Given the description of an element on the screen output the (x, y) to click on. 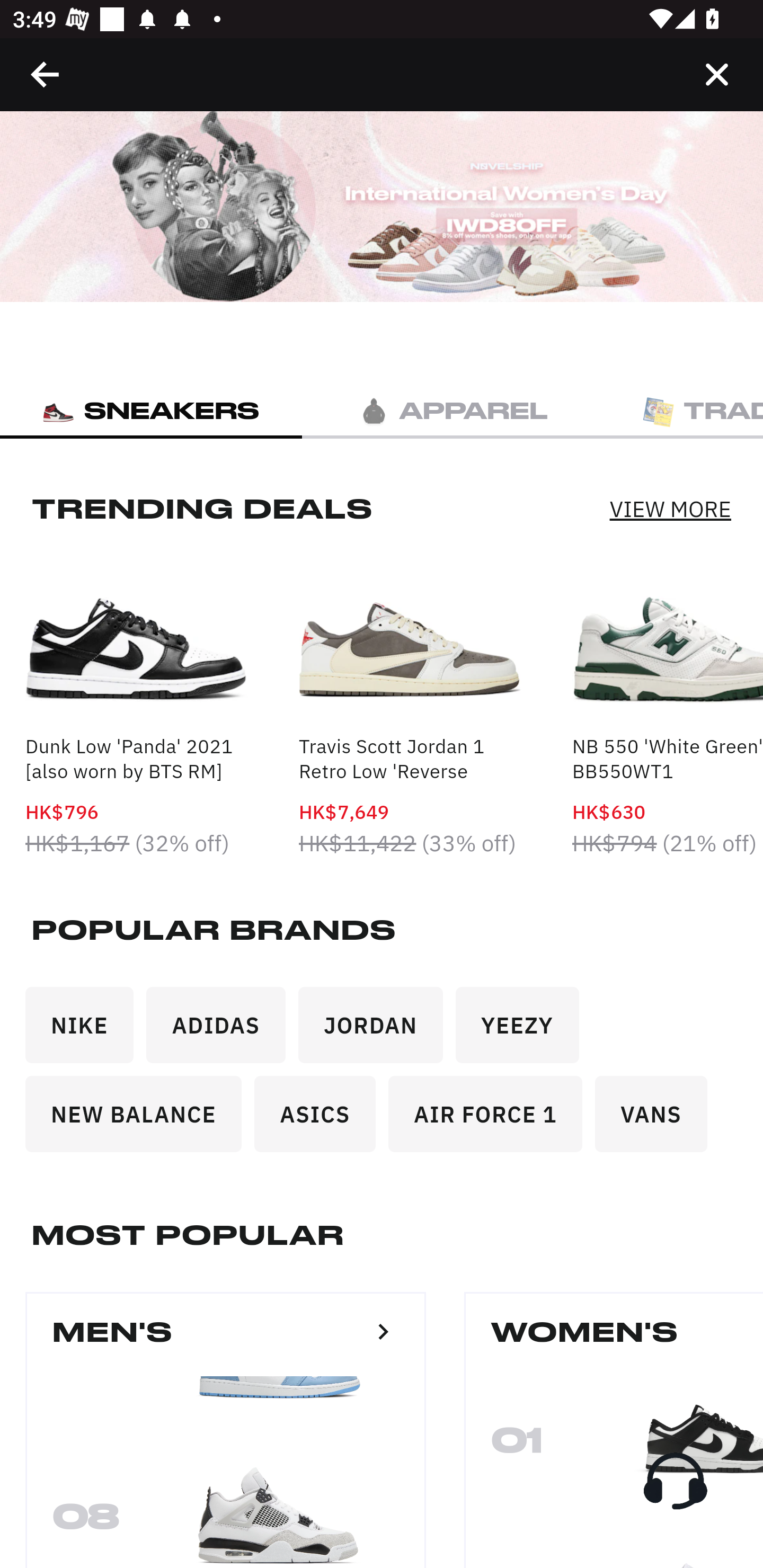
 (46, 74)
 (716, 74)
International Women's Day (381, 206)
SNEAKERS (151, 410)
APPAREL (453, 410)
VIEW MORE (669, 507)
NIKE (86, 1030)
ADIDAS (222, 1030)
JORDAN (376, 1030)
YEEZY (523, 1030)
NEW BALANCE (140, 1120)
ASICS (321, 1120)
AIR FORCE 1 (491, 1120)
VANS (657, 1120)
sneakers?sort=mostPopular&gender=men (383, 1330)
Nova Your Virtual Assistant! button (674, 1480)
